Given the description of an element on the screen output the (x, y) to click on. 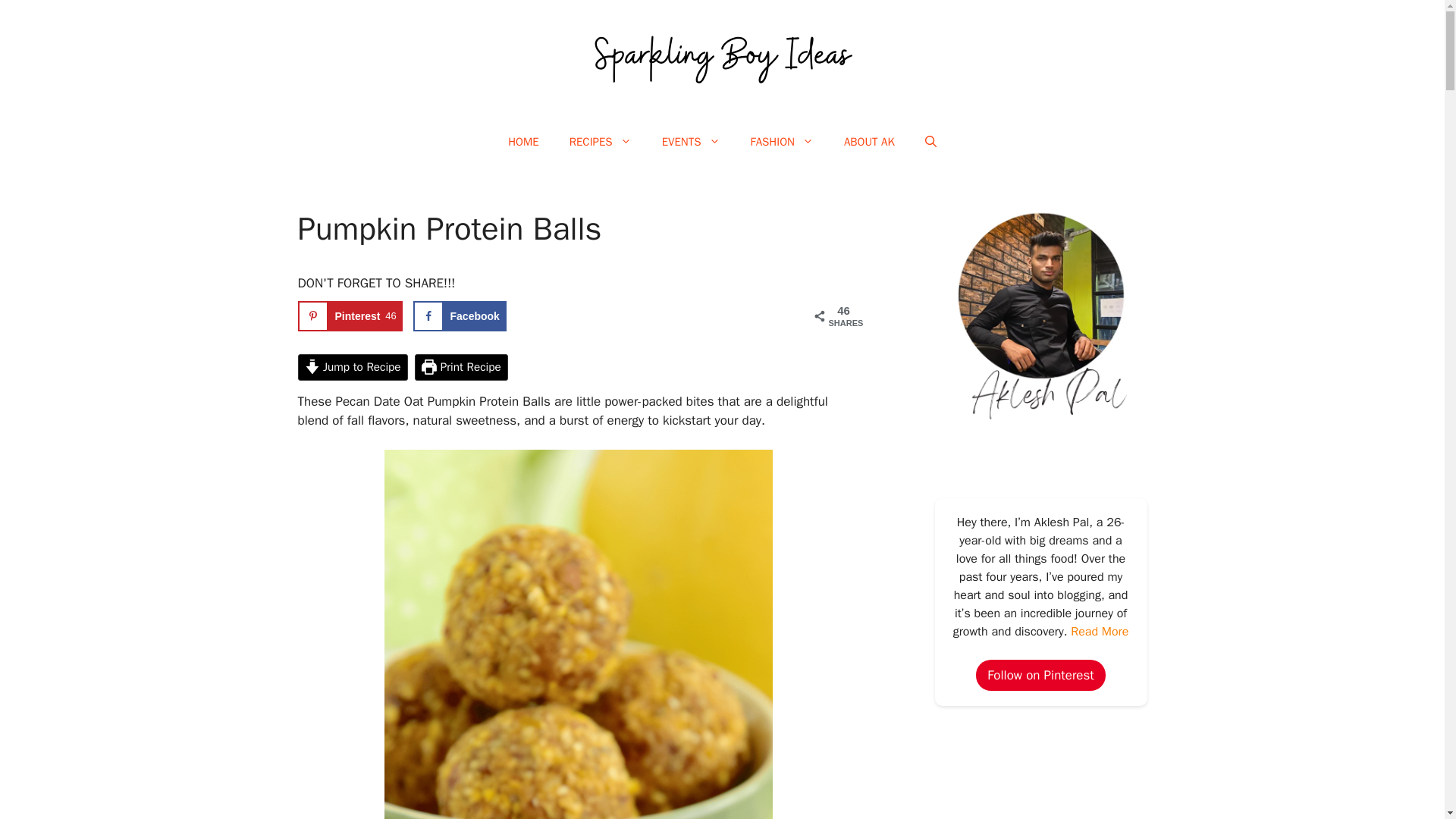
HOME (523, 141)
Save to Pinterest (350, 316)
EVENTS (690, 141)
FASHION (350, 316)
Share on Facebook (781, 141)
ABOUT AK (459, 316)
RECIPES (869, 141)
